Given the description of an element on the screen output the (x, y) to click on. 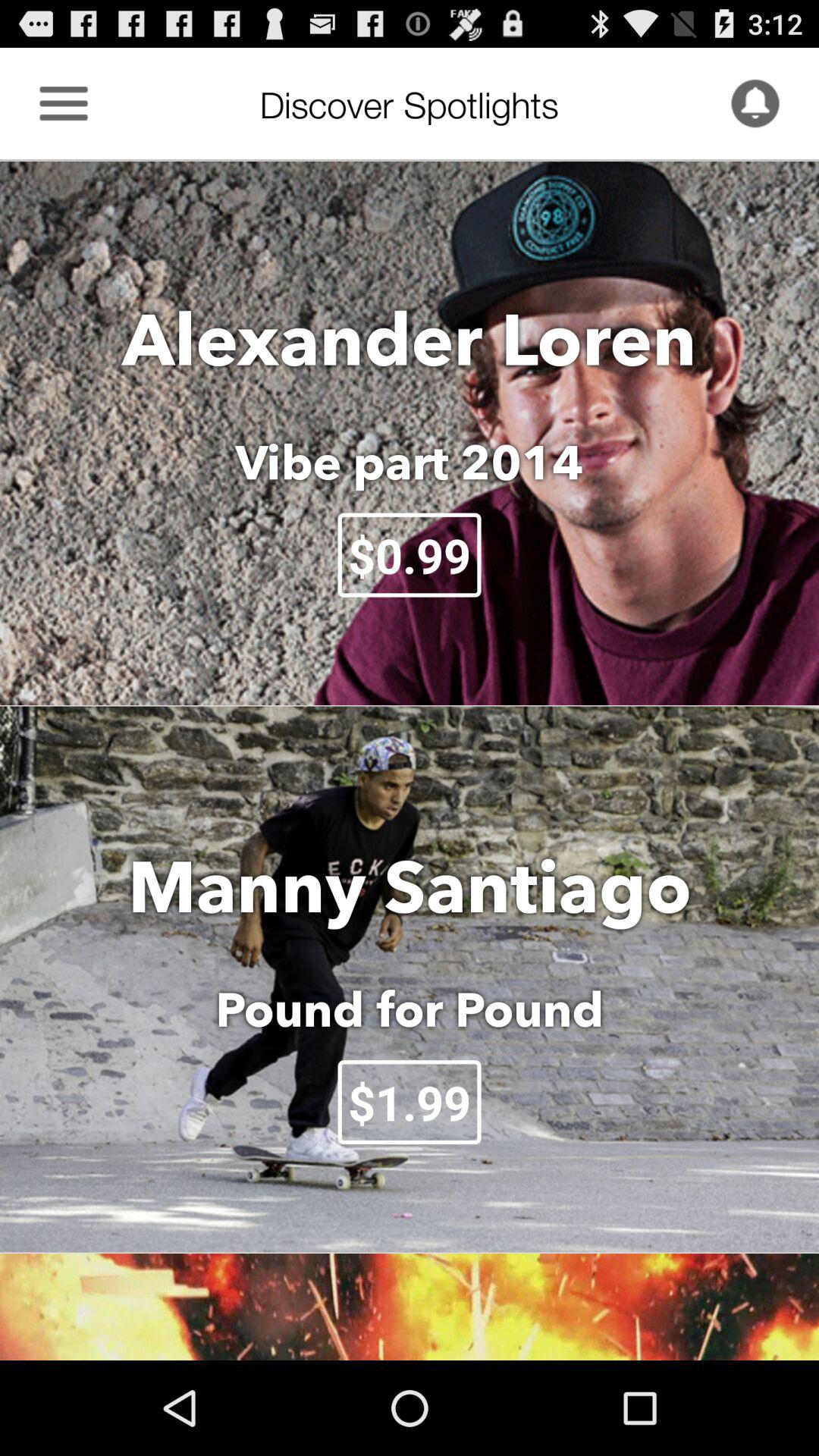
snapchat (755, 103)
